Given the description of an element on the screen output the (x, y) to click on. 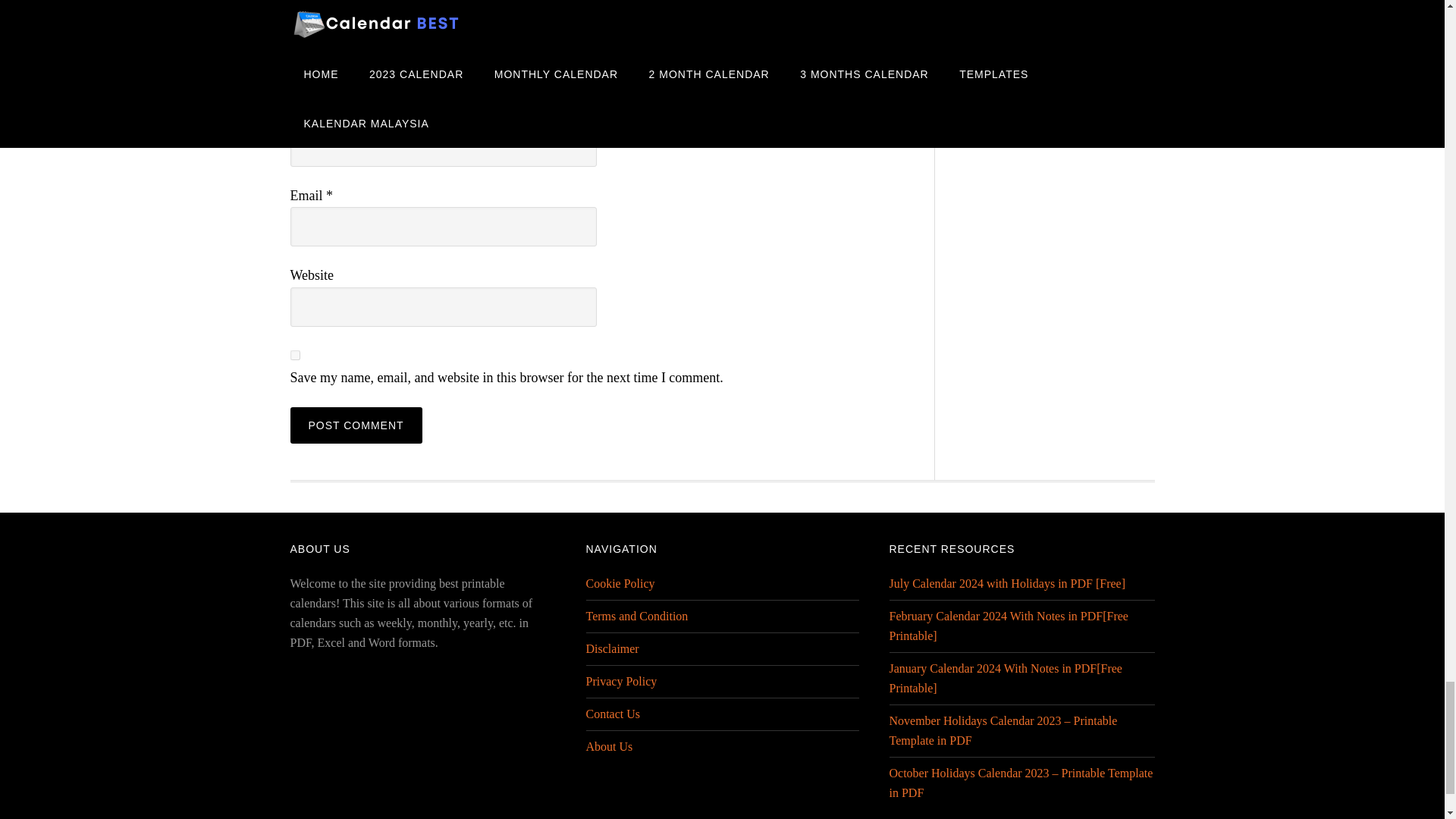
yes (294, 355)
Post Comment (355, 425)
Cookie Policy (619, 583)
Terms and Condition (636, 615)
Post Comment (355, 425)
